Given the description of an element on the screen output the (x, y) to click on. 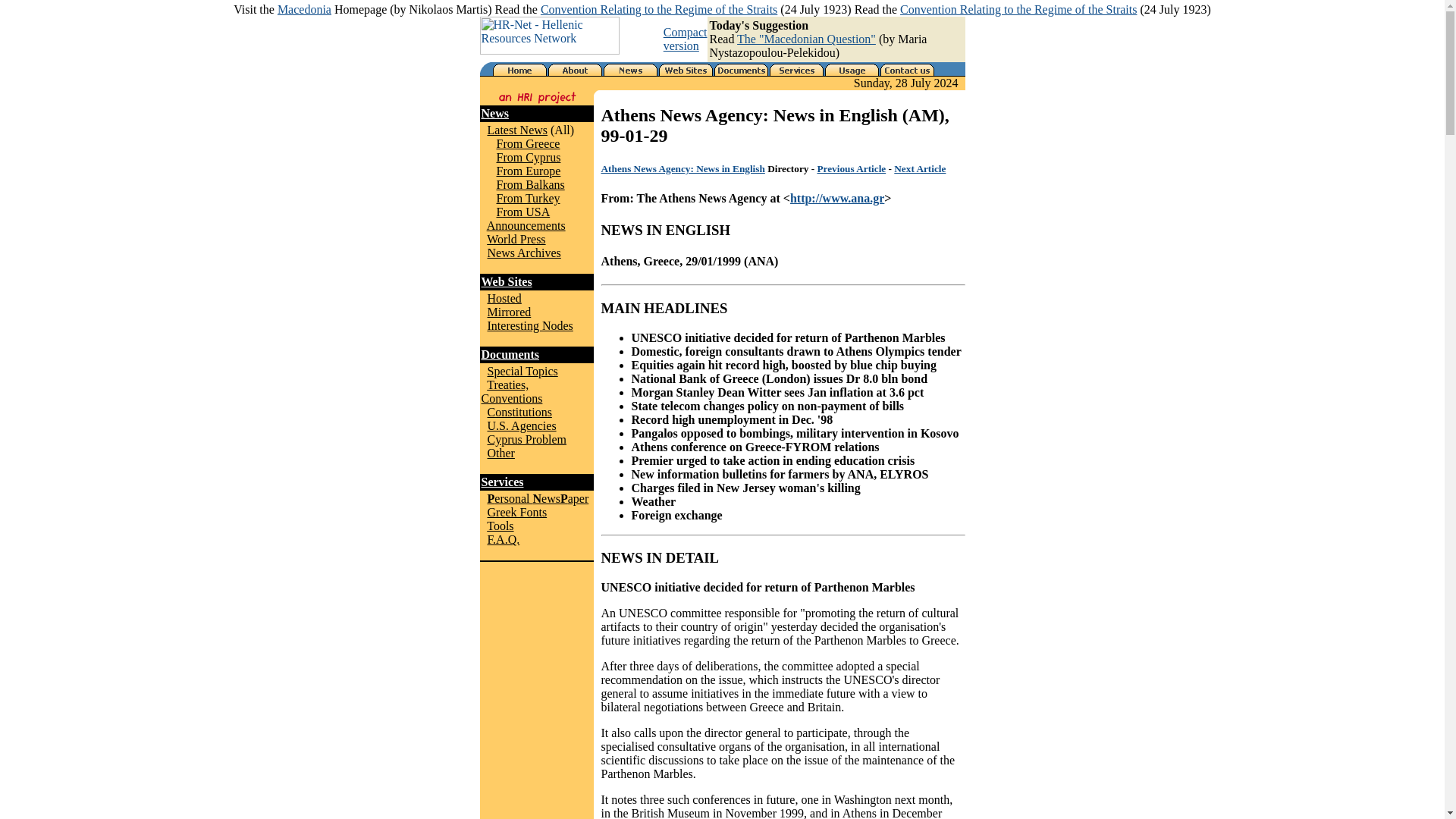
Special Topics (521, 370)
Services (501, 481)
Interesting Nodes (529, 325)
Cyprus Problem (526, 439)
News (494, 113)
From Turkey (527, 197)
From Cyprus (528, 156)
Mirrored (508, 311)
U.S. Agencies (521, 425)
From USA (523, 211)
From Balkans (530, 184)
Announcements (526, 225)
Constitutions (518, 411)
The "Macedonian Question" (806, 38)
World Press (515, 238)
